Given the description of an element on the screen output the (x, y) to click on. 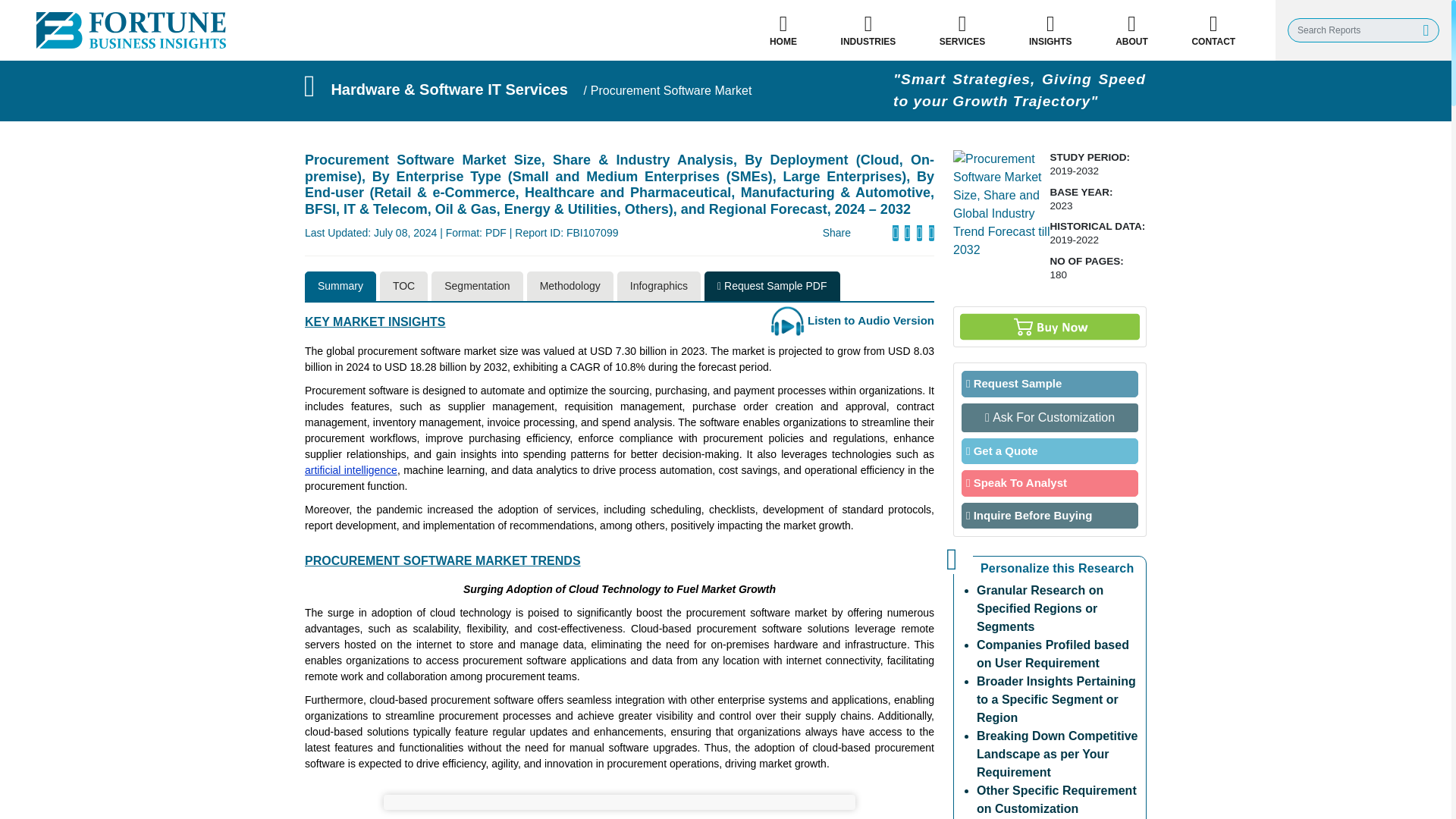
INSIGHTS (1050, 29)
SERVICES (962, 29)
INDUSTRIES (867, 29)
